Given the description of an element on the screen output the (x, y) to click on. 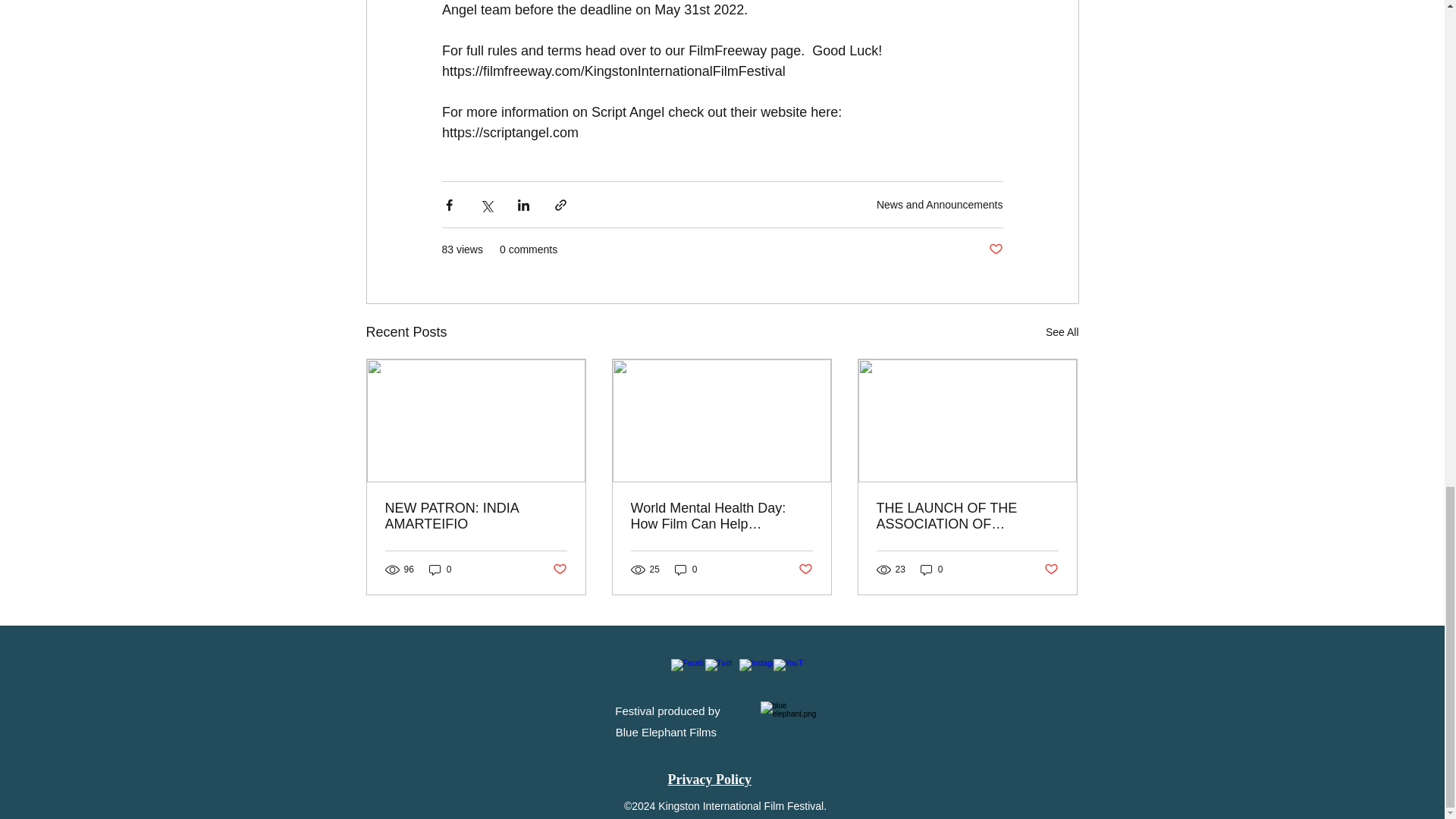
See All (1061, 332)
Post not marked as liked (1050, 569)
0 (931, 568)
NEW PATRON: INDIA AMARTEIFIO (476, 516)
Post not marked as liked (558, 569)
News and Announcements (939, 203)
0 (440, 568)
Post not marked as liked (804, 569)
Privacy Policy (708, 779)
Post not marked as liked (995, 249)
0 (685, 568)
